Given the description of an element on the screen output the (x, y) to click on. 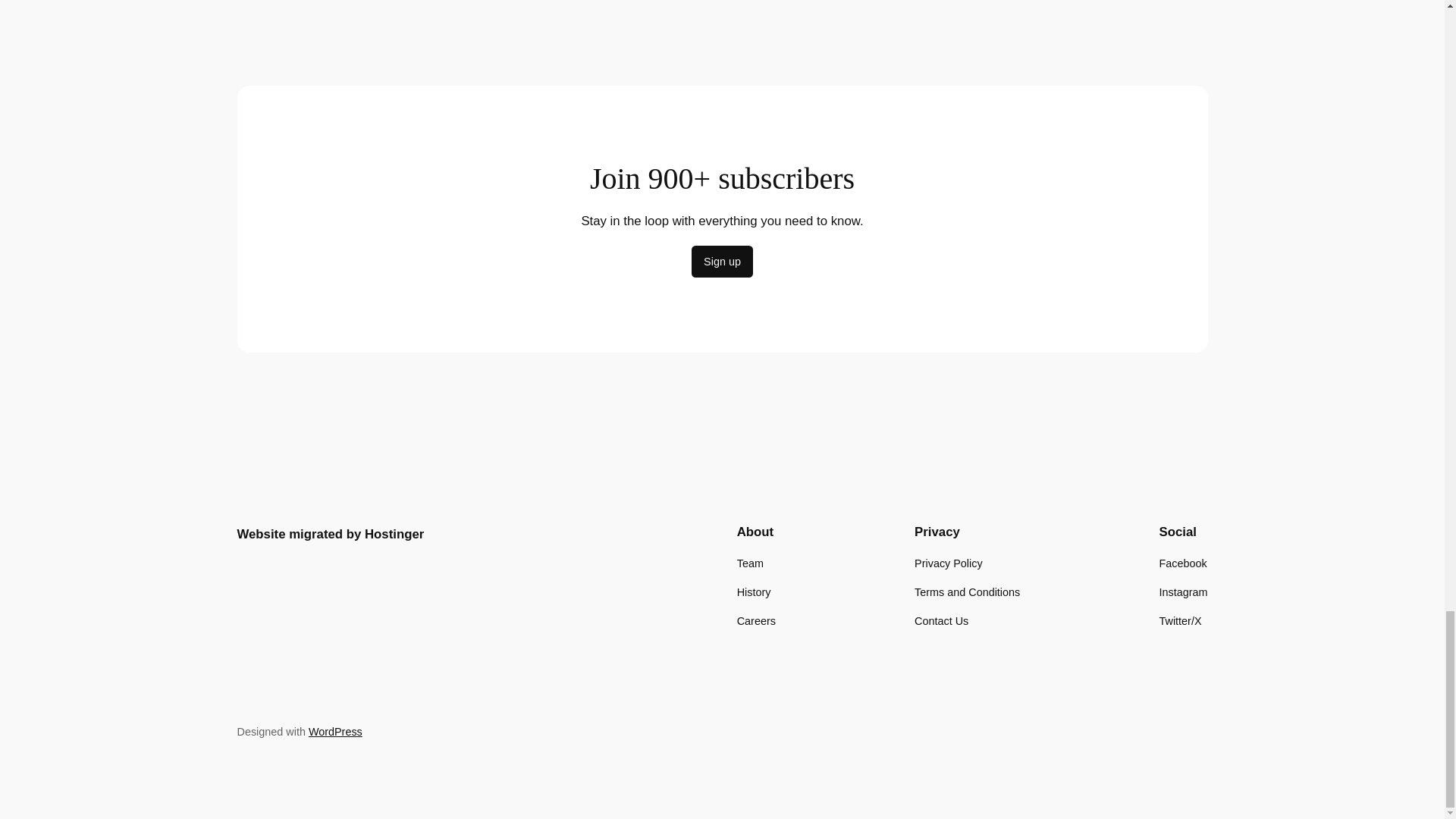
Privacy Policy (948, 563)
Terms and Conditions (967, 591)
Instagram (1182, 591)
Sign up (721, 261)
Team (749, 563)
Website migrated by Hostinger (329, 534)
History (753, 591)
Facebook (1182, 563)
WordPress (335, 731)
Careers (756, 620)
